Given the description of an element on the screen output the (x, y) to click on. 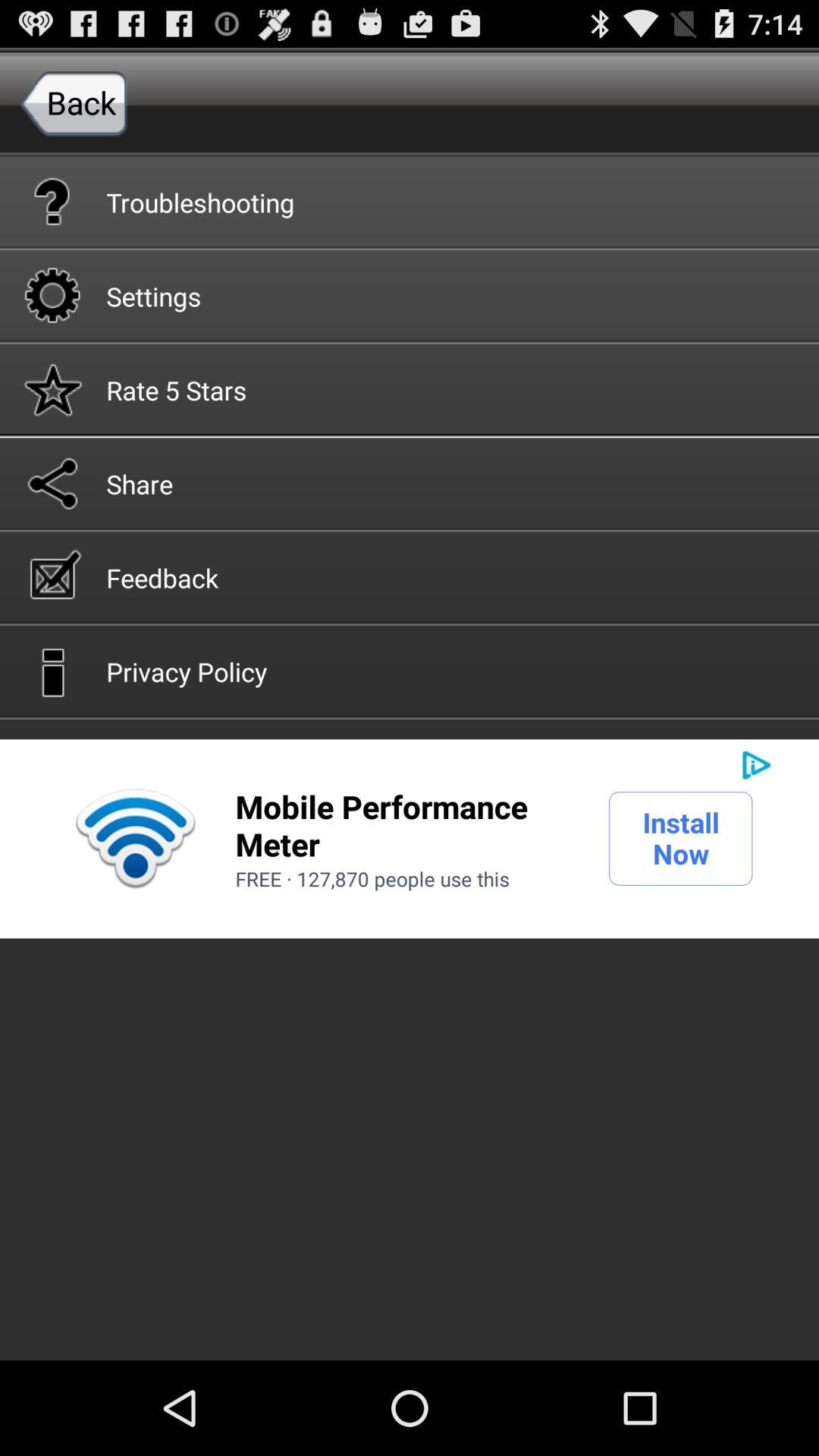
turn off button below back (409, 201)
